Given the description of an element on the screen output the (x, y) to click on. 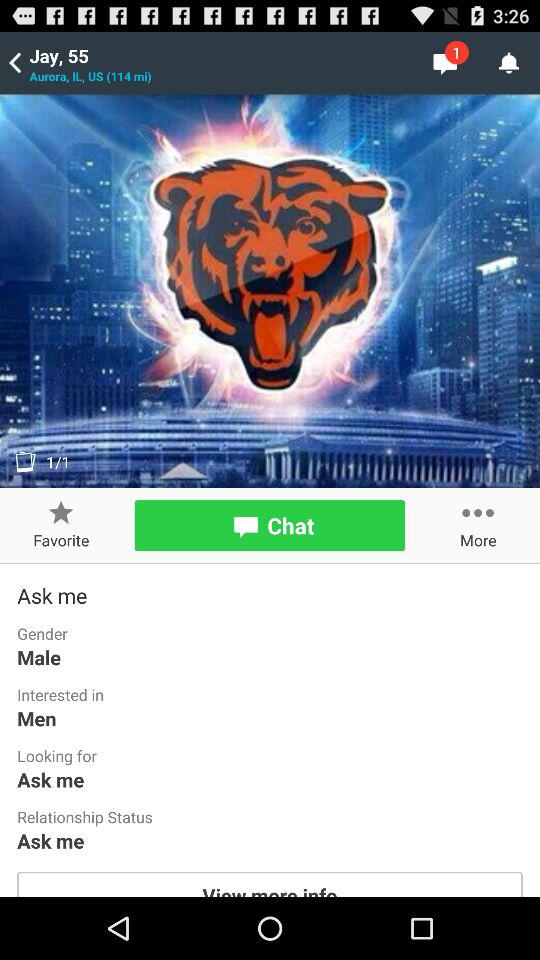
press the app below the ask me item (269, 883)
